Given the description of an element on the screen output the (x, y) to click on. 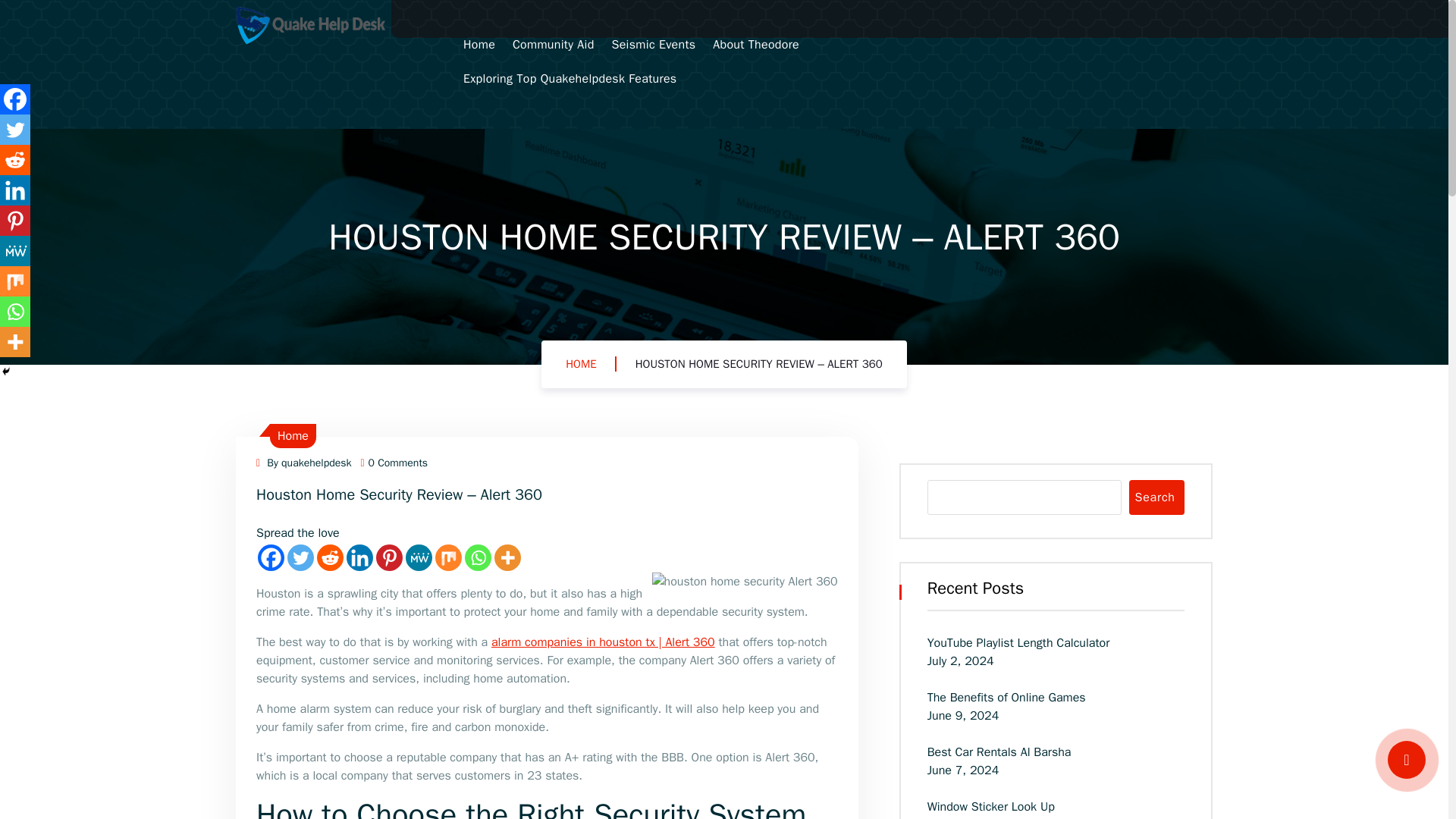
About Theodore (756, 44)
Twitter (300, 557)
Reddit (330, 557)
Community Aid (553, 44)
By quakehelpdesk (304, 462)
HOME (580, 364)
0 Comments (393, 462)
Home (293, 435)
Facebook (270, 557)
About Theodore (756, 44)
Exploring Top Quakehelpdesk Features (570, 79)
Community Aid (553, 44)
Home (479, 44)
Exploring Top Quakehelpdesk Features (570, 79)
Seismic Events (653, 44)
